Given the description of an element on the screen output the (x, y) to click on. 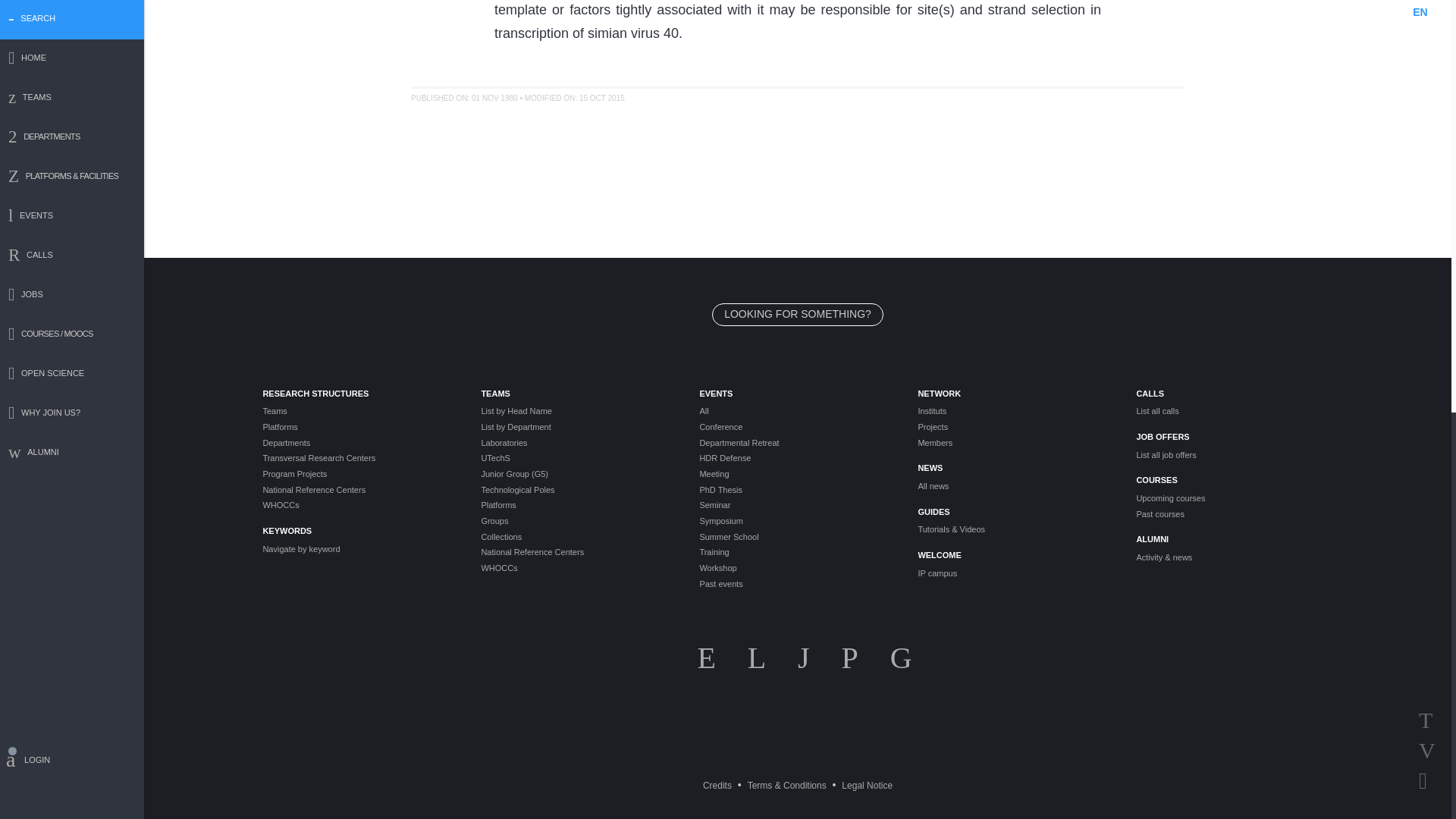
Program Projects (360, 473)
Transversal Research Centers (360, 458)
Teams (360, 411)
Platforms (360, 427)
Departments (360, 442)
